Given the description of an element on the screen output the (x, y) to click on. 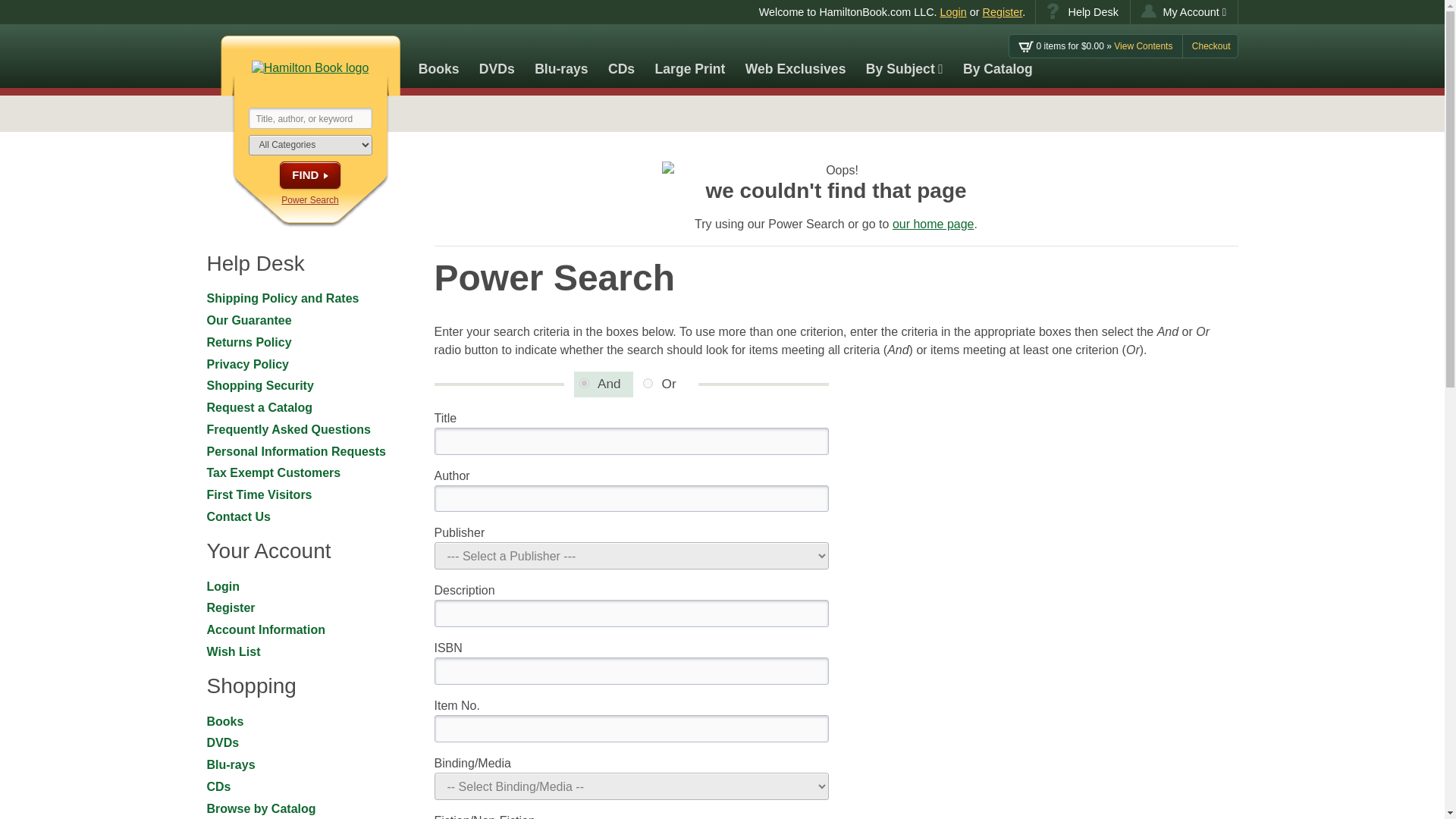
Large Print (690, 55)
Help Icon Help Desk (1082, 12)
Books (437, 55)
Account Icon (1148, 10)
Web Exclusives (795, 55)
Power Search (309, 199)
Click to open My Account menu (1184, 12)
By Subject (904, 55)
Blu-rays (561, 55)
Help Desk (1082, 12)
